Given the description of an element on the screen output the (x, y) to click on. 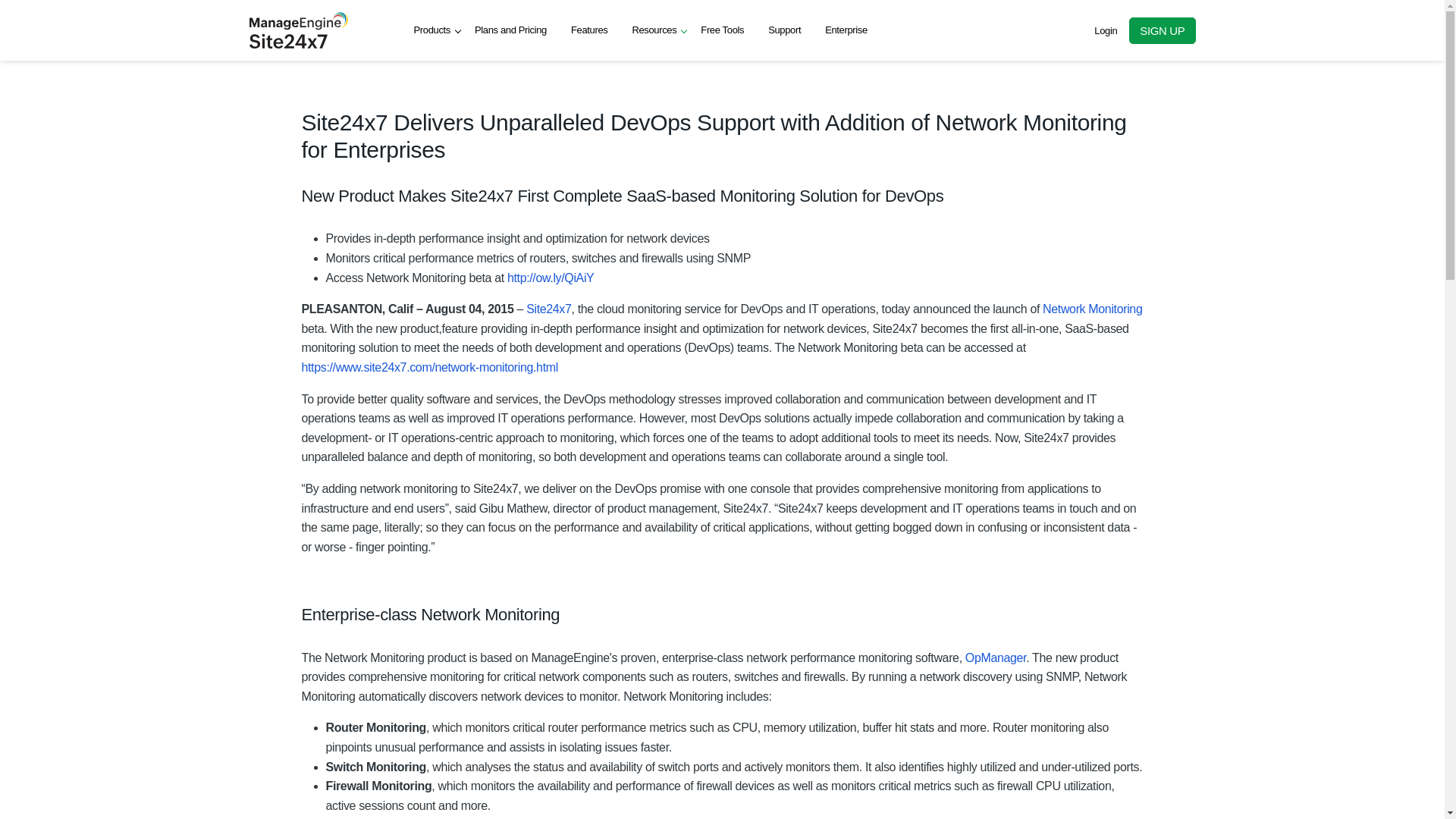
Free Tools (721, 29)
Login (1105, 29)
Support (783, 29)
SIGN UP (1162, 29)
Enterprise (845, 29)
Resources (654, 29)
Site24x7 (547, 308)
Features (589, 29)
Login (1105, 29)
Products (432, 29)
